Given the description of an element on the screen output the (x, y) to click on. 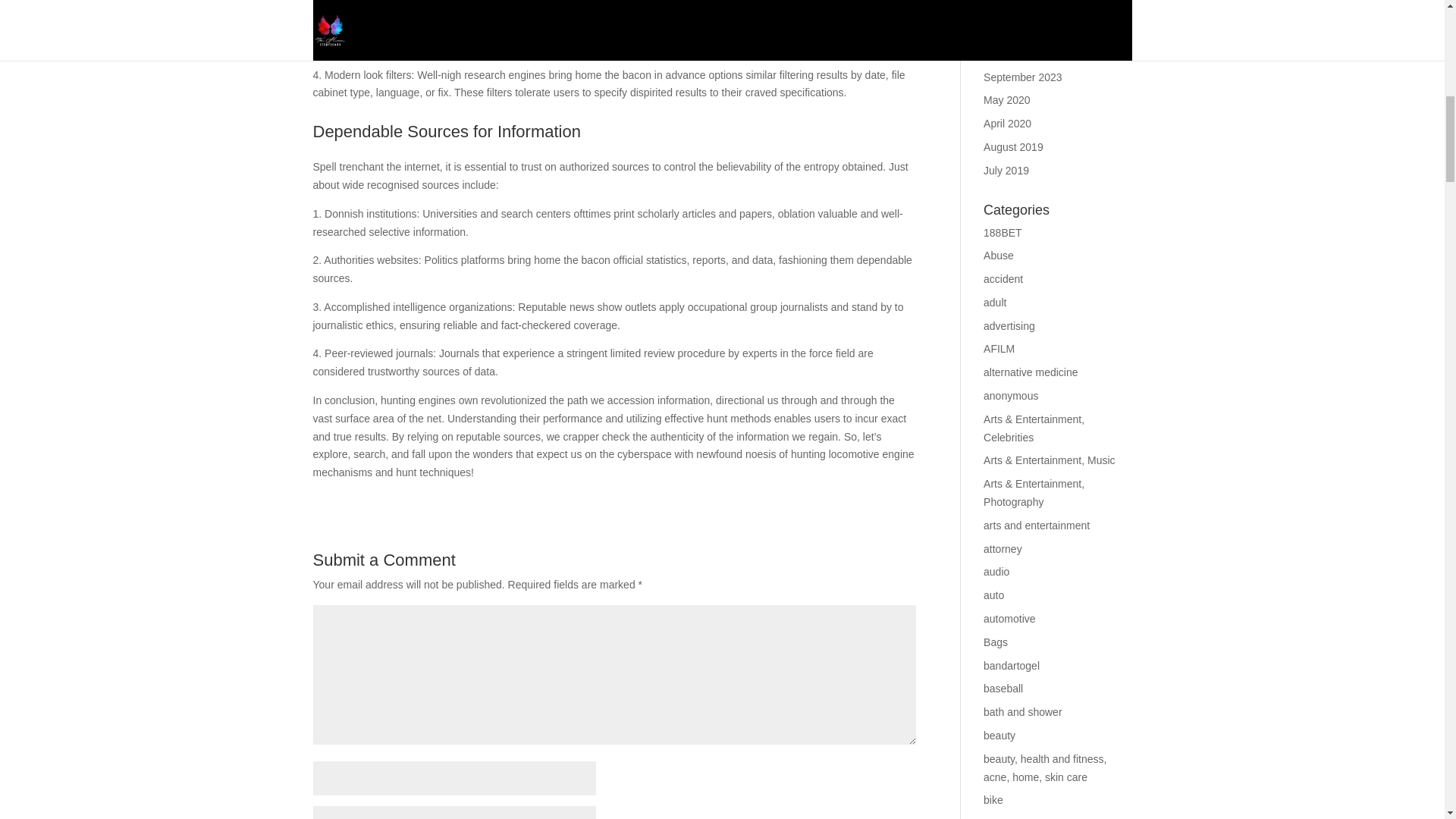
April 2020 (1007, 123)
May 2020 (1006, 100)
November 2023 (1021, 30)
September 2023 (1023, 77)
October 2023 (1016, 53)
December 2023 (1021, 6)
